Given the description of an element on the screen output the (x, y) to click on. 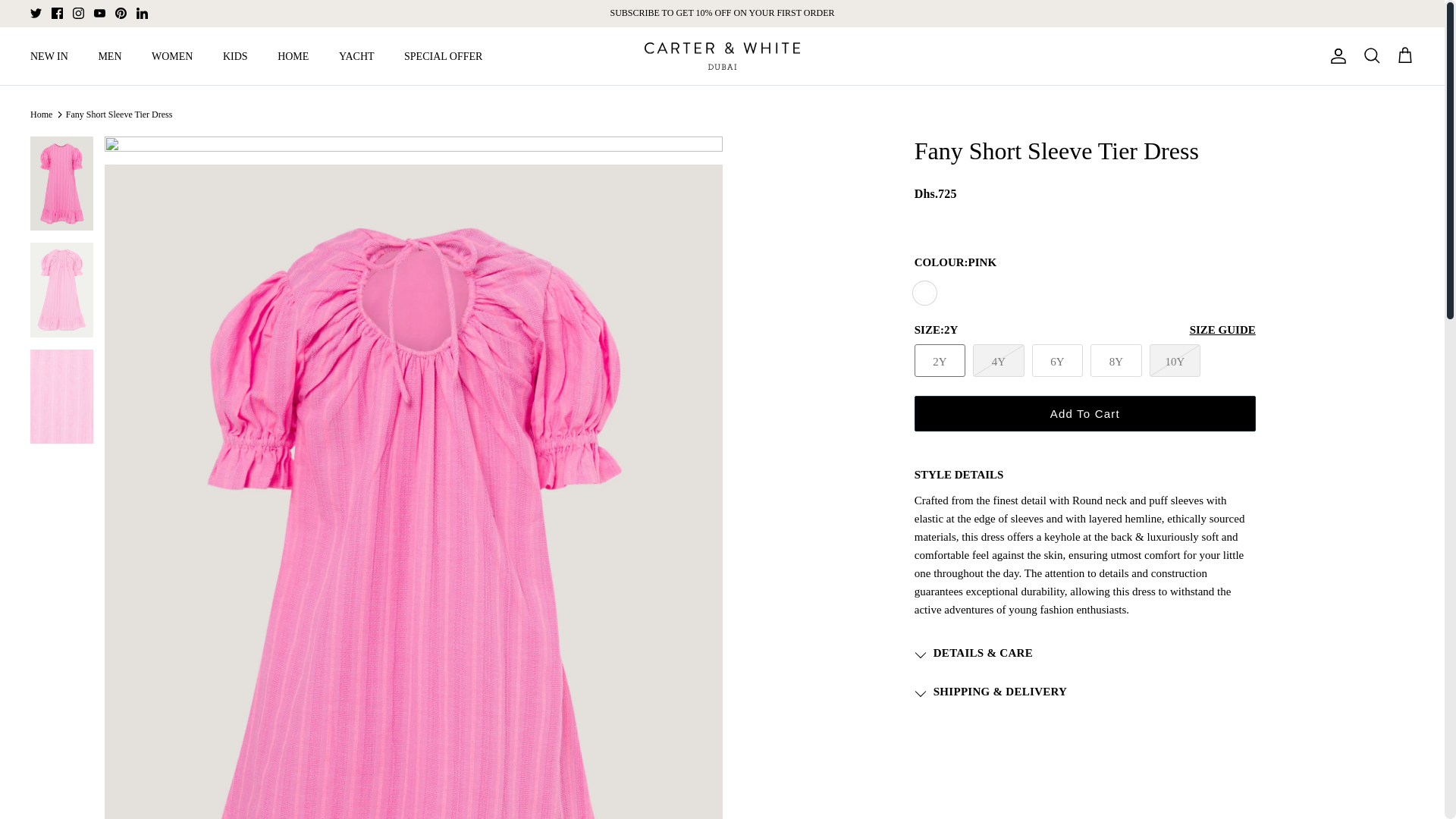
WOMEN (172, 56)
KIDS (235, 56)
SPECIAL OFFER (443, 56)
Instagram (78, 12)
Twitter (36, 12)
Youtube (99, 12)
Youtube (99, 12)
Facebook (56, 12)
HOME (292, 56)
MEN (109, 56)
